Given the description of an element on the screen output the (x, y) to click on. 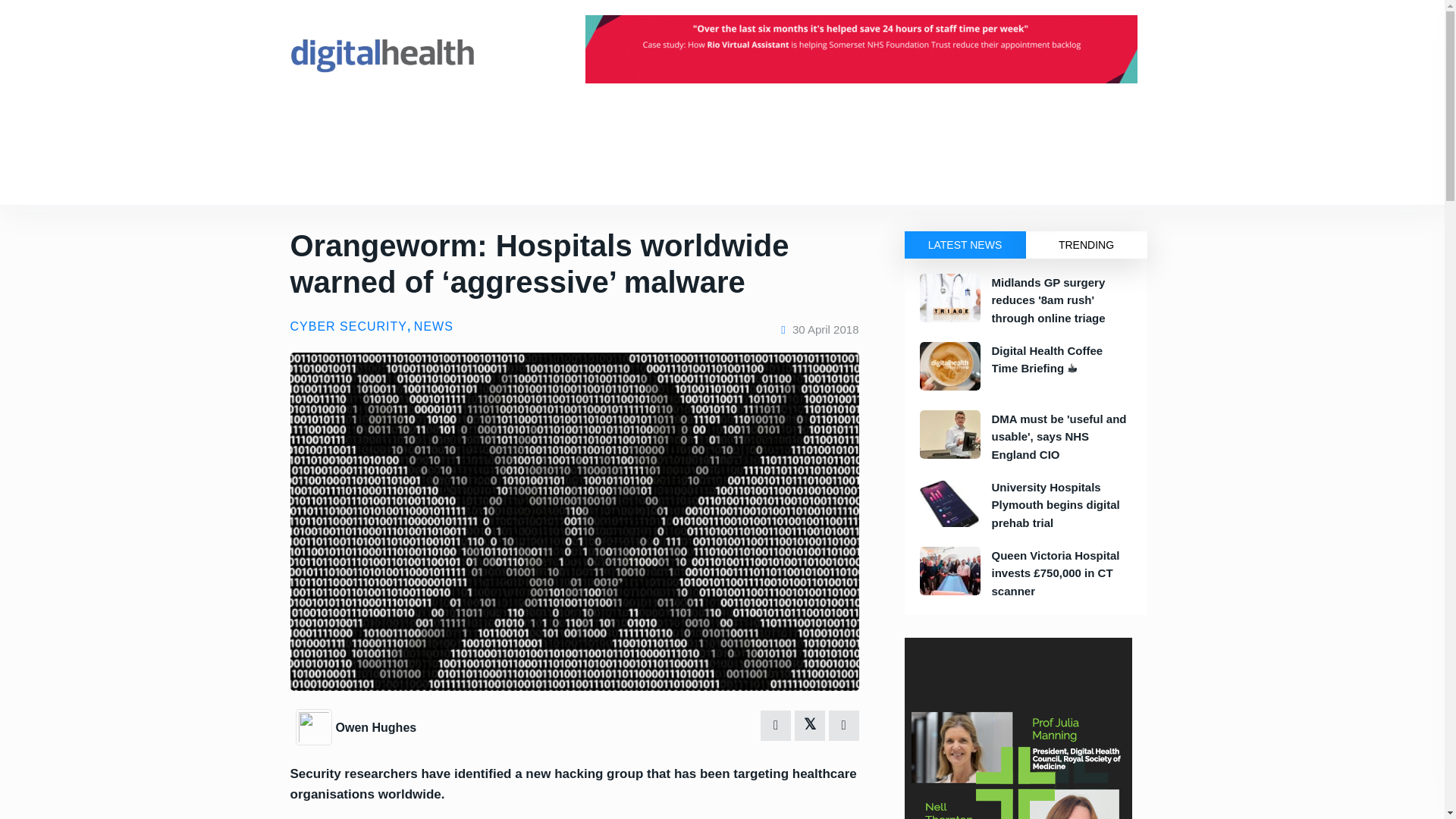
Case Studies (431, 177)
Intelligence (446, 124)
Owen Hughes (375, 727)
Webinars (658, 177)
Special Reports (578, 177)
Podcast (502, 177)
Opinion (361, 177)
About Us (584, 124)
News (330, 124)
Topics (305, 177)
Events (382, 124)
Owen Hughes (315, 725)
Networks (517, 124)
